Given the description of an element on the screen output the (x, y) to click on. 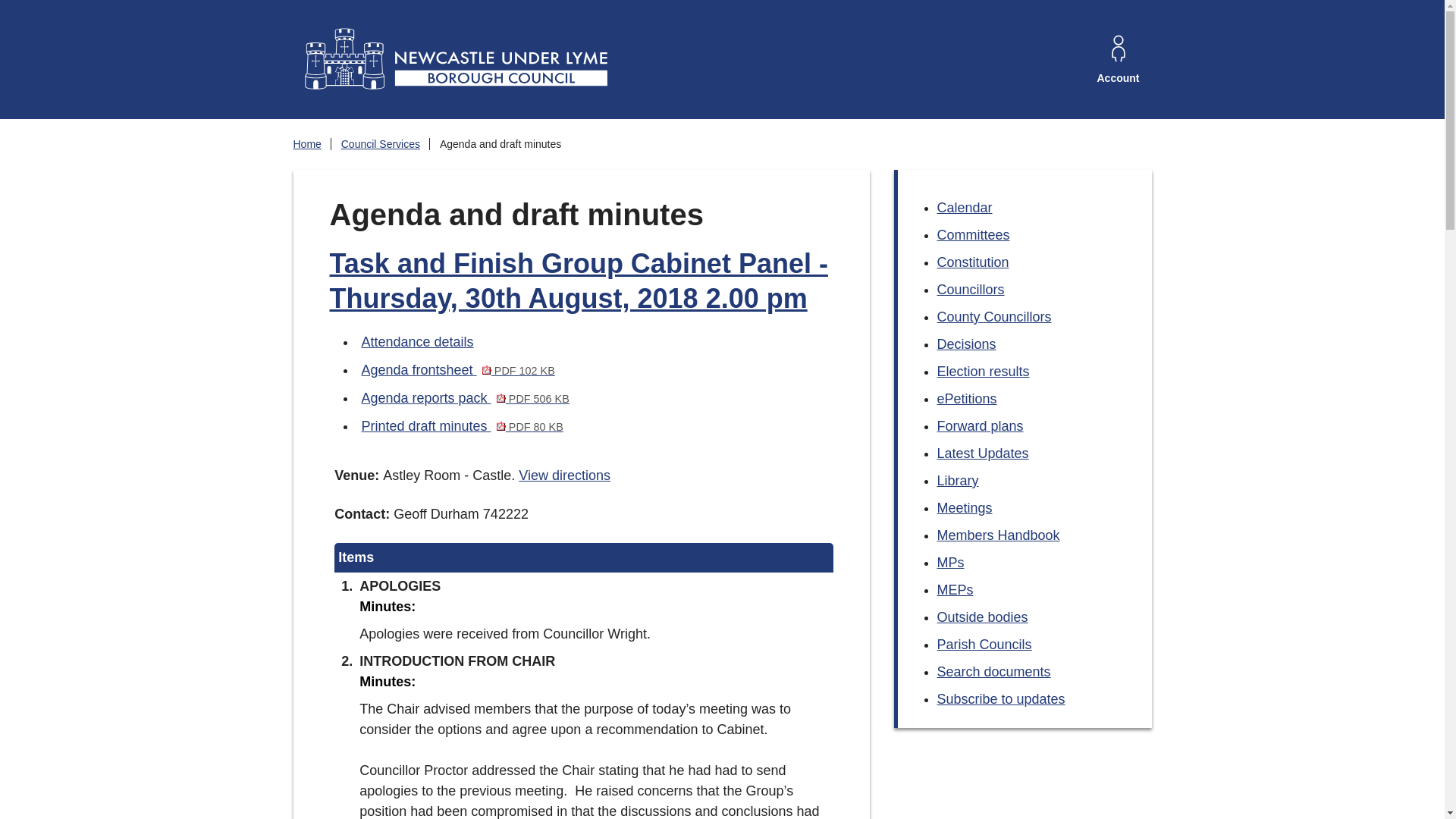
Newcastle-under-Lyme Borough Council Home Page (453, 59)
Attendance details (417, 341)
Agenda frontsheet PDF 102 KB (457, 369)
Link to election results (983, 371)
Link to County councillors (994, 316)
Link to agenda frontsheet pdf file (457, 369)
Link to agenda reports  document pack pdf file (465, 397)
Link to directions to Astley Room - Castle (564, 475)
